Given the description of an element on the screen output the (x, y) to click on. 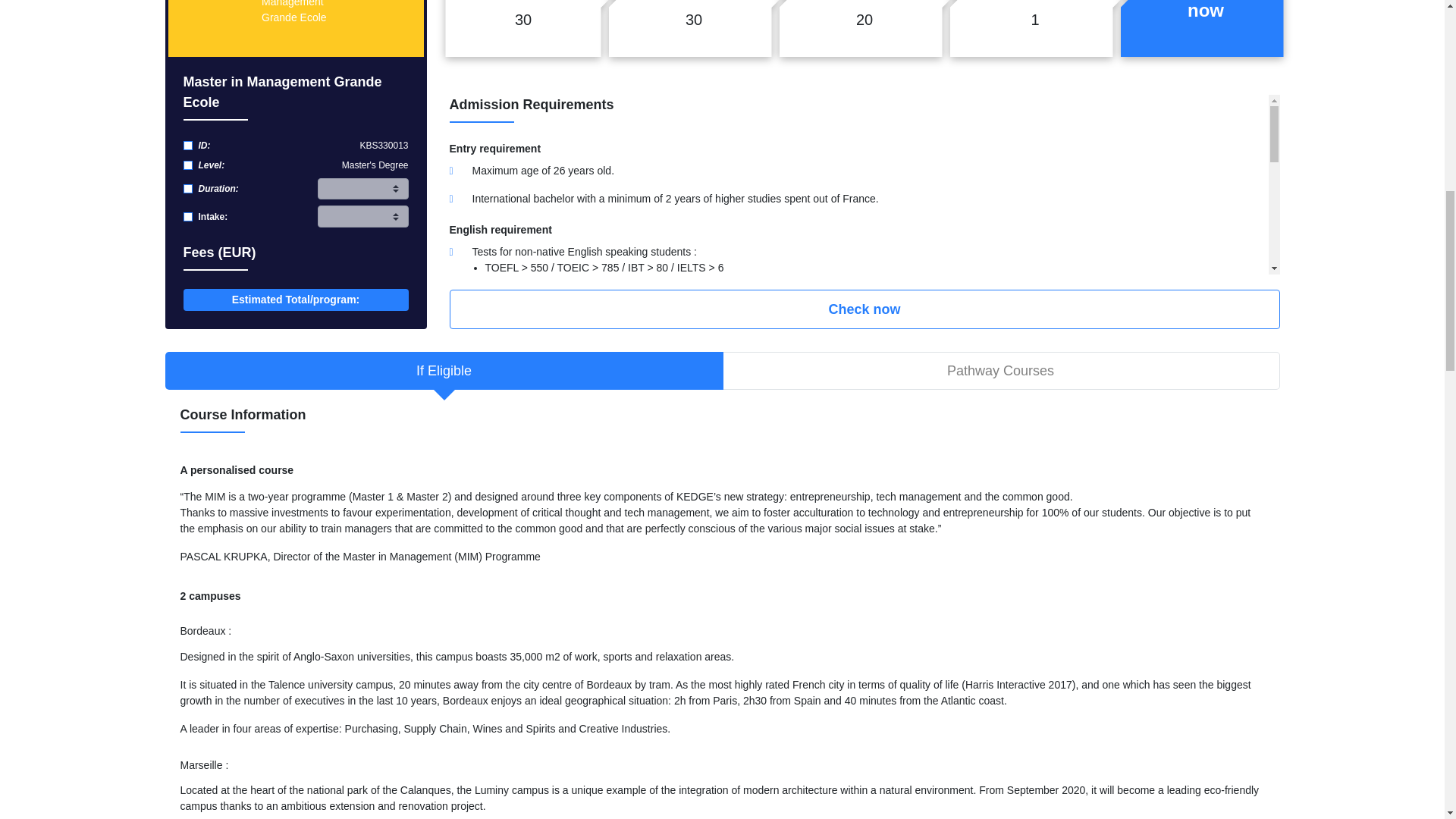
If Eligible (443, 370)
Pathway Courses (1000, 370)
Check now (863, 309)
